Given the description of an element on the screen output the (x, y) to click on. 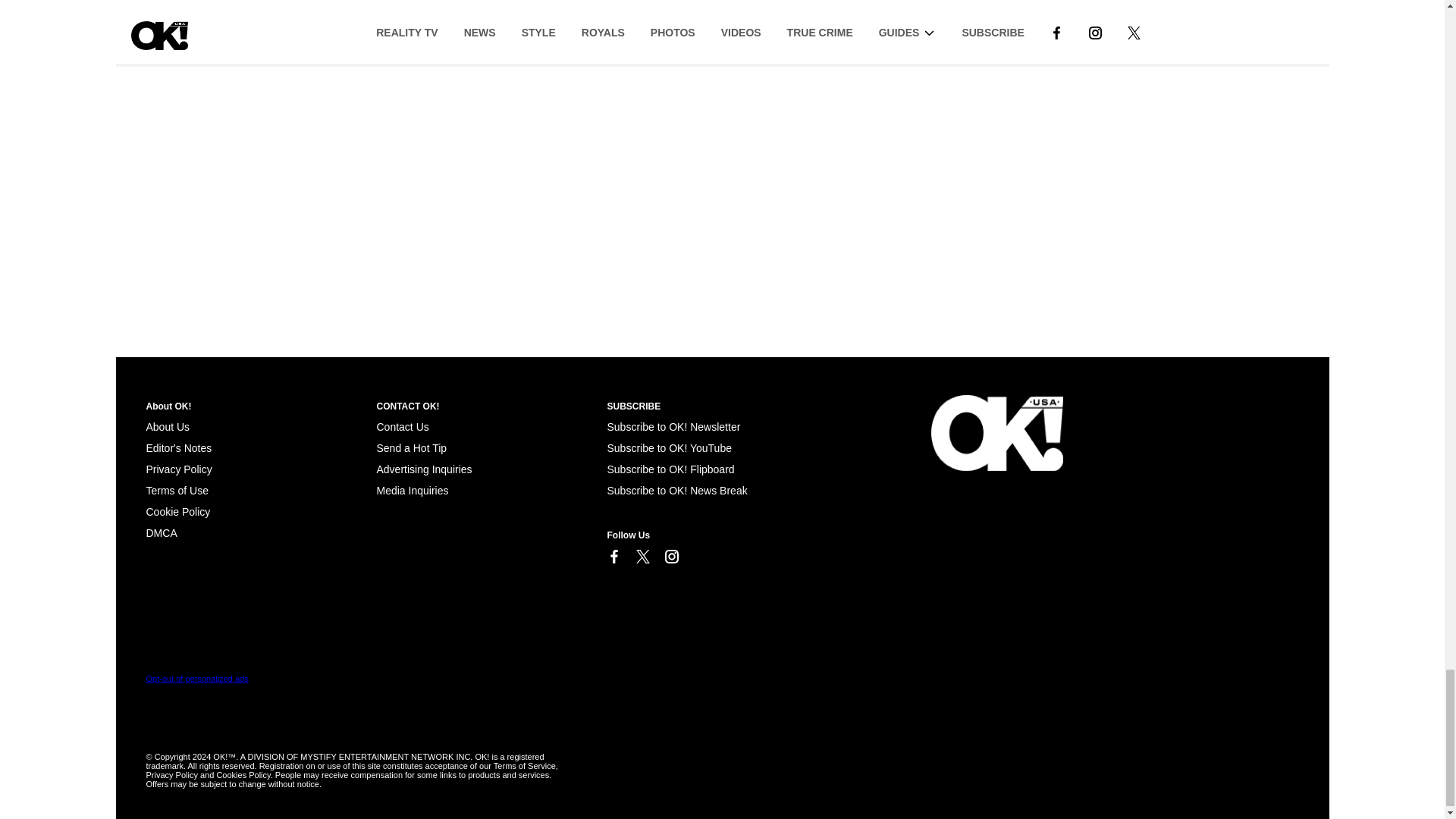
Link to Instagram (670, 556)
Editor's Notes (178, 448)
About Us (167, 426)
Link to X (641, 556)
Privacy Policy (178, 469)
Contact Us (401, 426)
Cookie Policy (177, 511)
Cookie Policy (160, 532)
Send a Hot Tip (410, 448)
Terms of Use (176, 490)
